Given the description of an element on the screen output the (x, y) to click on. 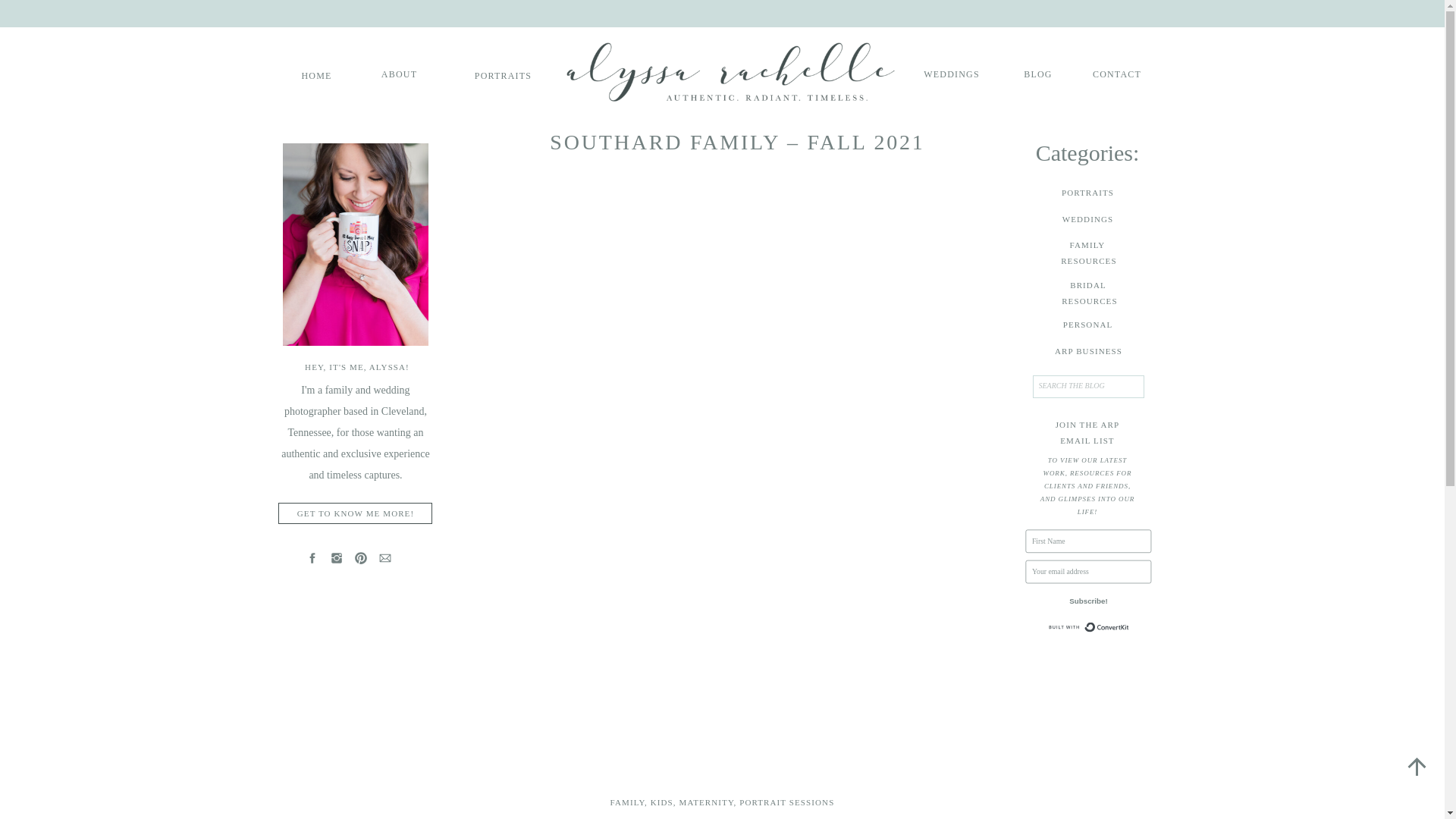
FAMILY (1087, 292)
GET TO KNOW ME MORE! (627, 801)
MATERNITY (355, 513)
ABOUT (706, 801)
HOME (399, 73)
WEDDINGS (316, 74)
Built with ConvertKit (1087, 251)
WEDDINGS (1088, 219)
KIDS (1109, 632)
CONTACT (951, 73)
PORTRAIT SESSIONS (661, 801)
PORTRAITS (1117, 73)
ARP BUSINESS (786, 801)
